Given the description of an element on the screen output the (x, y) to click on. 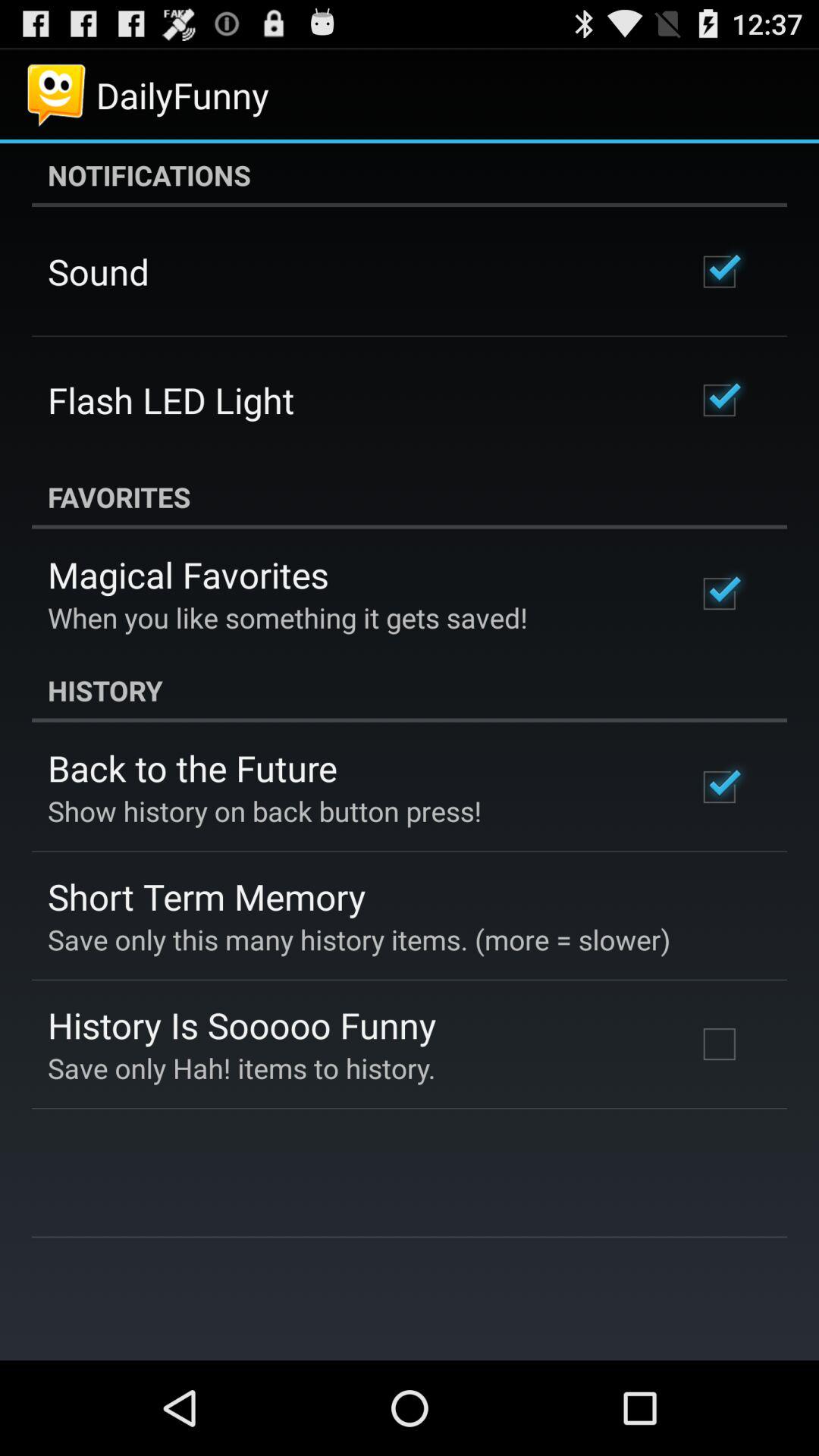
open app below favorites (187, 574)
